Given the description of an element on the screen output the (x, y) to click on. 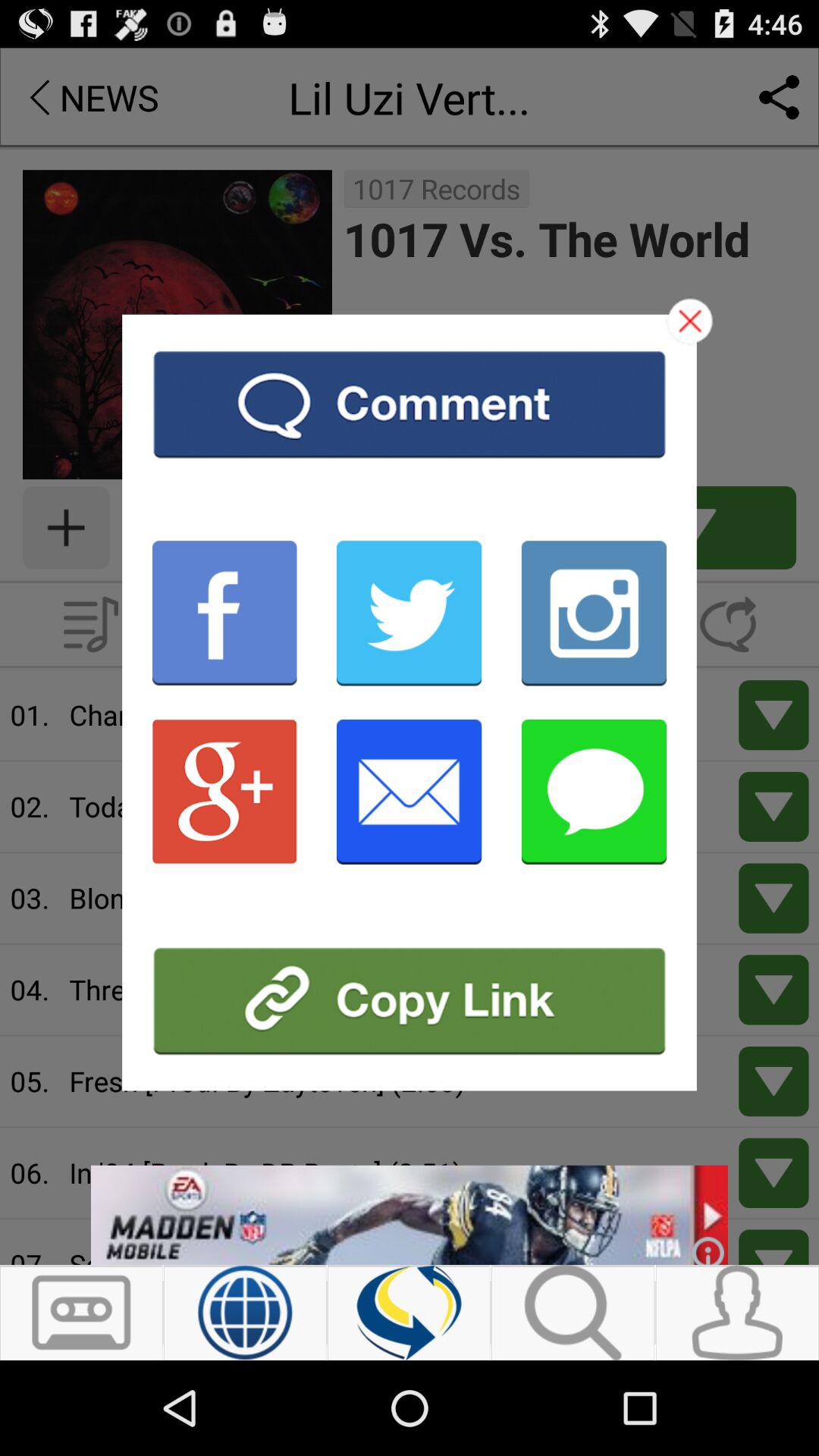
go to mail (408, 791)
